Given the description of an element on the screen output the (x, y) to click on. 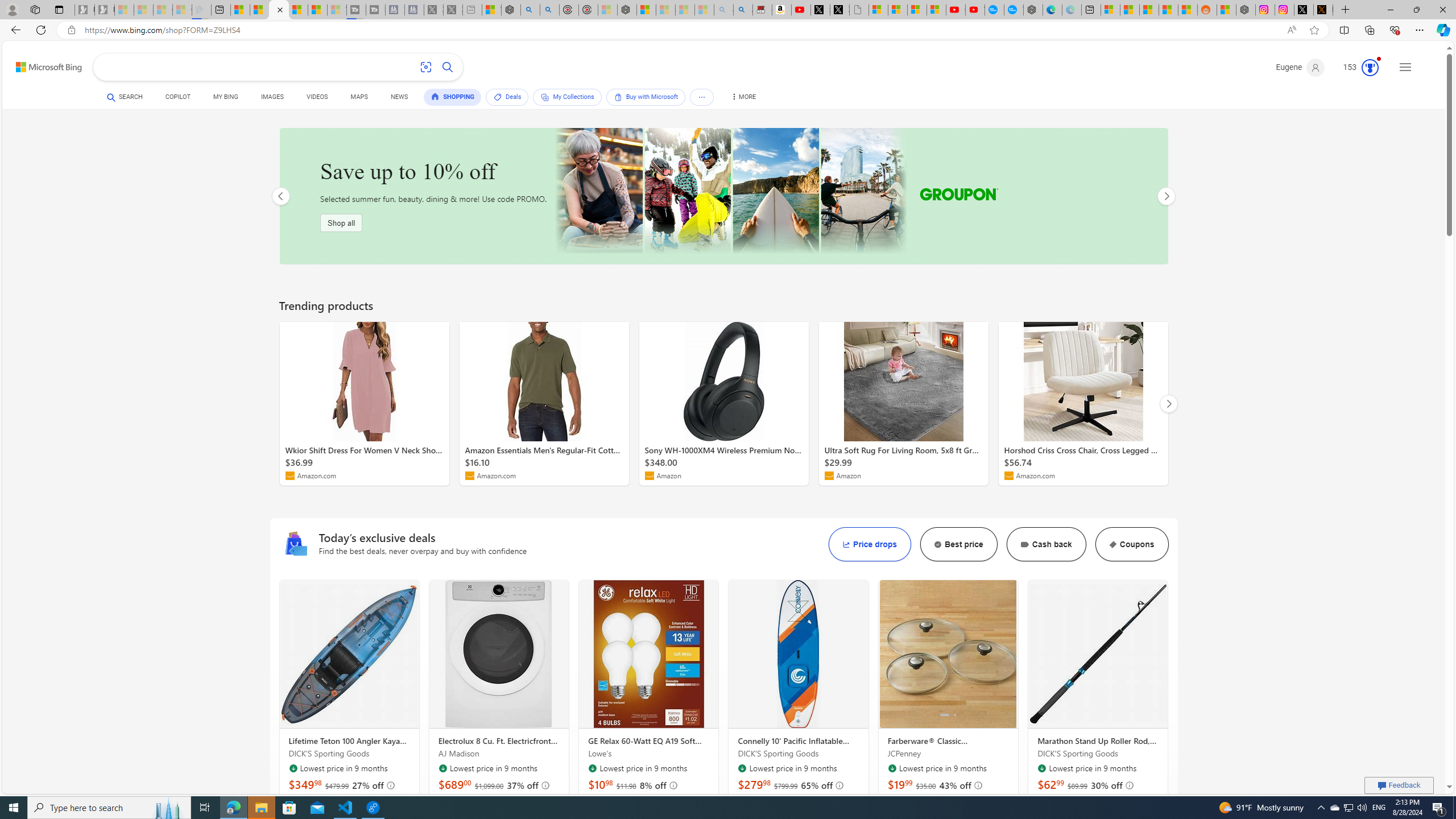
Deals icon (295, 544)
Log in to X / X (1303, 9)
Feedback (1399, 785)
Gloom - YouTube (954, 9)
